Given the description of an element on the screen output the (x, y) to click on. 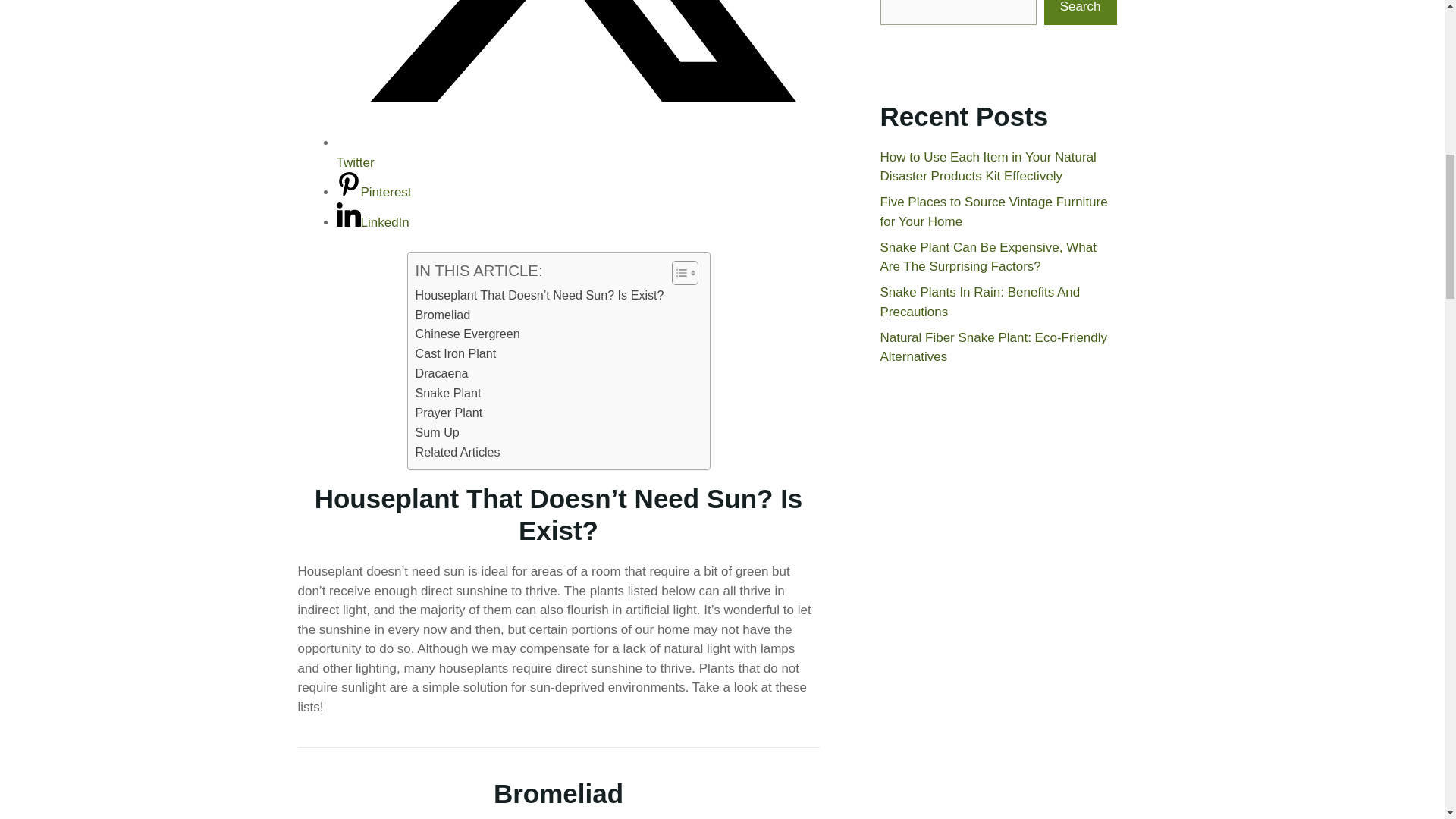
Pinterest (374, 192)
Sum Up (437, 433)
Snake Plant (447, 393)
Chinese Evergreen (466, 333)
Prayer Plant (448, 413)
Related Articles (457, 452)
Sum Up (437, 433)
Prayer Plant (448, 413)
Share on LinkedIn (372, 222)
Chinese Evergreen (466, 333)
Cast Iron Plant (455, 353)
Bromeliad (442, 315)
LinkedIn (372, 222)
Share on Pinterest (374, 192)
Related Articles (457, 452)
